Given the description of an element on the screen output the (x, y) to click on. 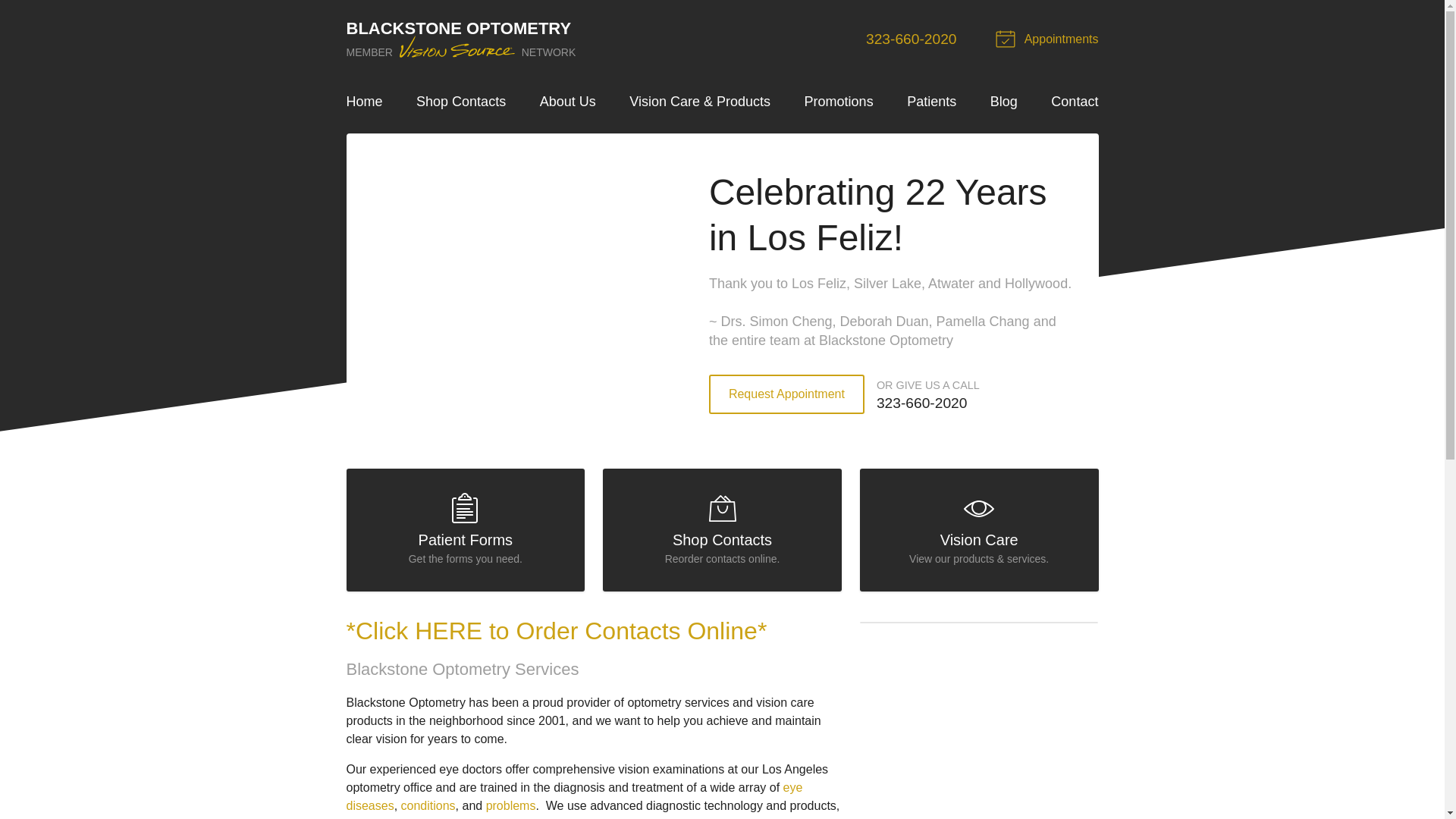
eye diseases (574, 796)
Call practice (465, 529)
About Us (911, 38)
Contact (567, 101)
problems (1074, 101)
Promotions (510, 805)
conditions (839, 101)
Shop Contacts (428, 805)
